Given the description of an element on the screen output the (x, y) to click on. 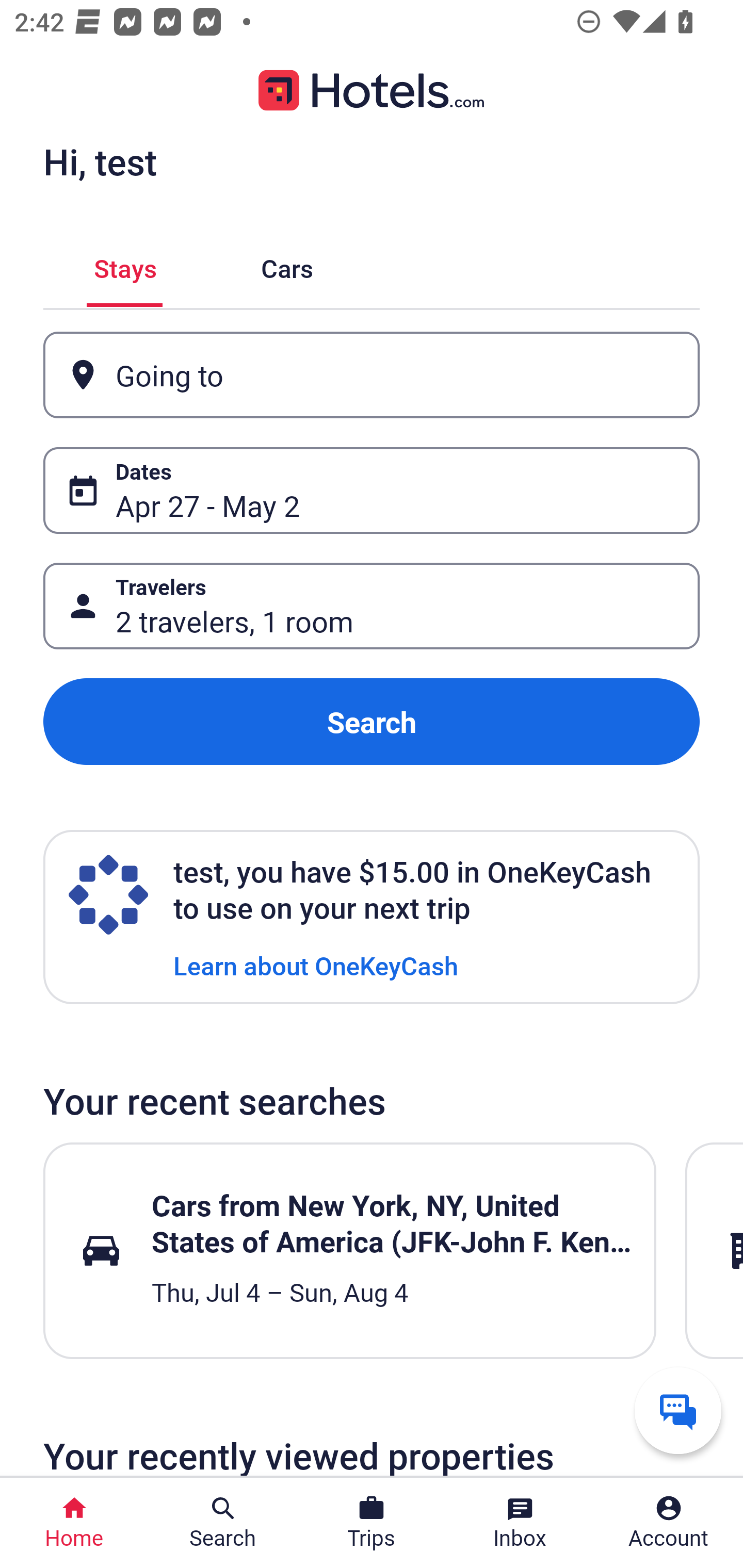
Hi, test (99, 161)
Cars (286, 265)
Going to Button (371, 375)
Dates Button Apr 27 - May 2 (371, 489)
Travelers Button 2 travelers, 1 room (371, 605)
Search (371, 721)
Learn about OneKeyCash Learn about OneKeyCash Link (315, 964)
Get help from a virtual agent (677, 1410)
Search Search Button (222, 1522)
Trips Trips Button (371, 1522)
Inbox Inbox Button (519, 1522)
Account Profile. Button (668, 1522)
